Given the description of an element on the screen output the (x, y) to click on. 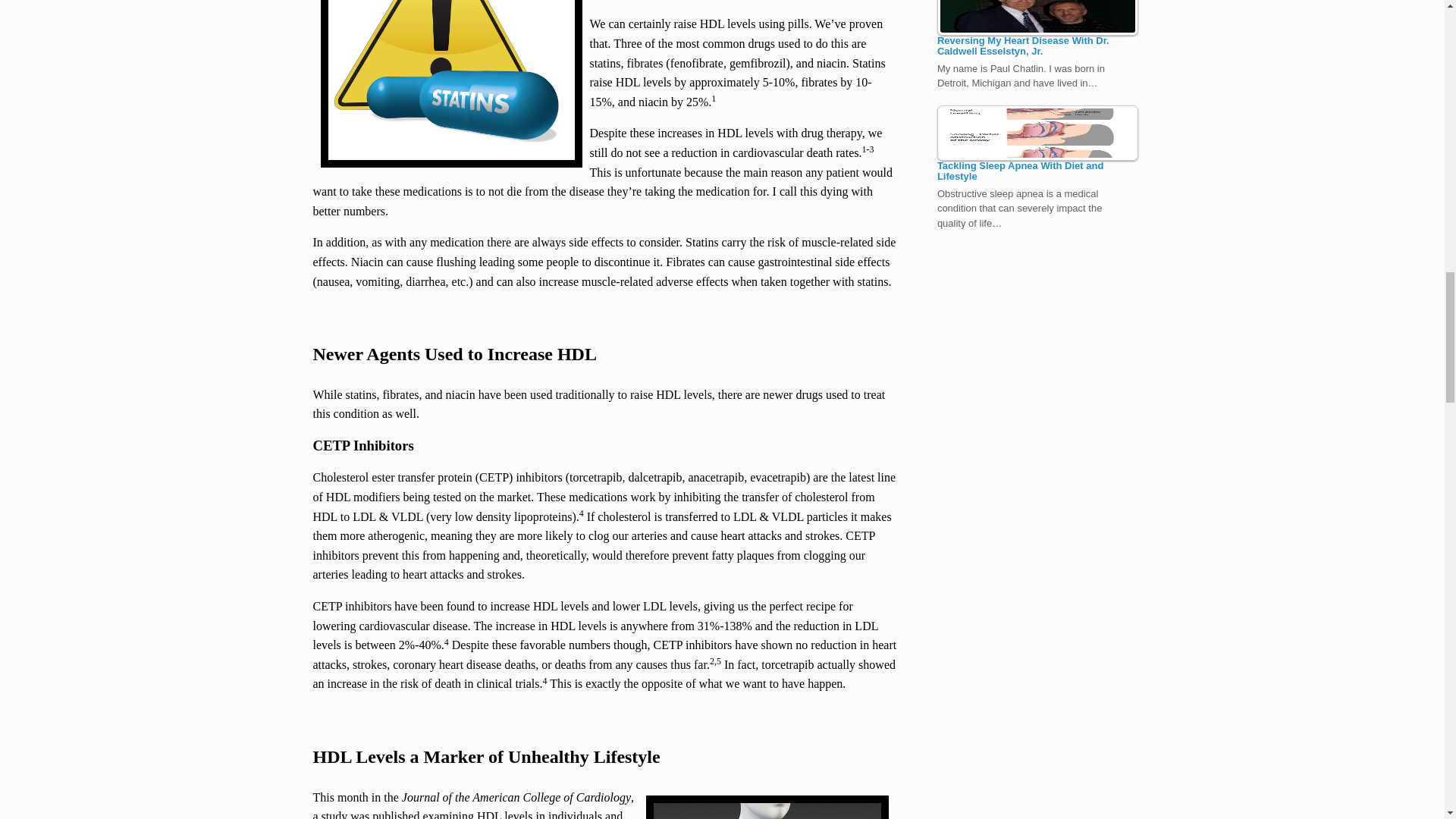
Reversing My Heart Disease With Dr. Caldwell Esselstyn, Jr. (1037, 18)
